Given the description of an element on the screen output the (x, y) to click on. 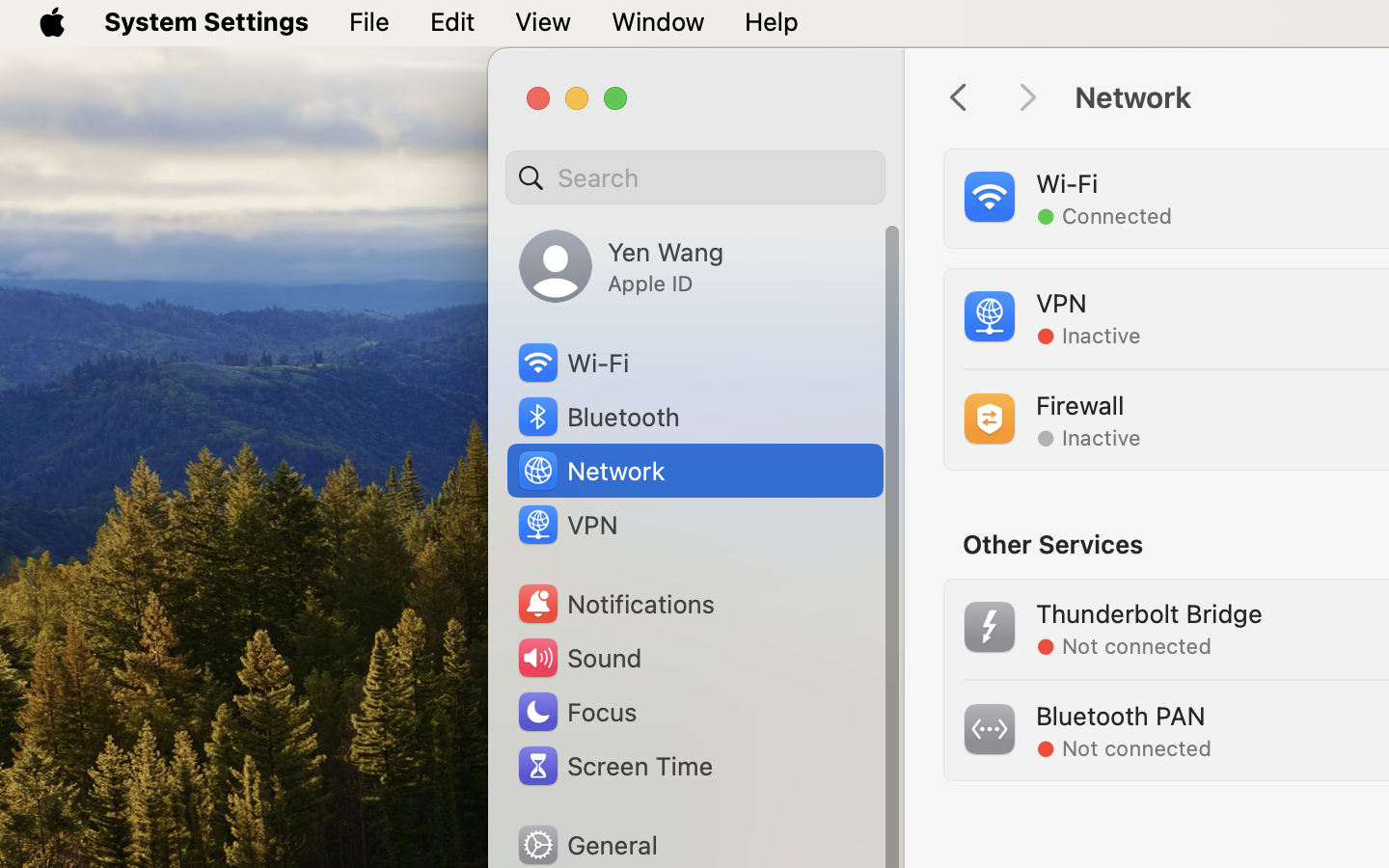
Screen Time Element type: AXStaticText (614, 765)
Wi‑Fi Element type: AXStaticText (571, 362)
General Element type: AXStaticText (586, 844)
VPN Element type: AXStaticText (566, 524)
Network Element type: AXStaticText (590, 470)
